Given the description of an element on the screen output the (x, y) to click on. 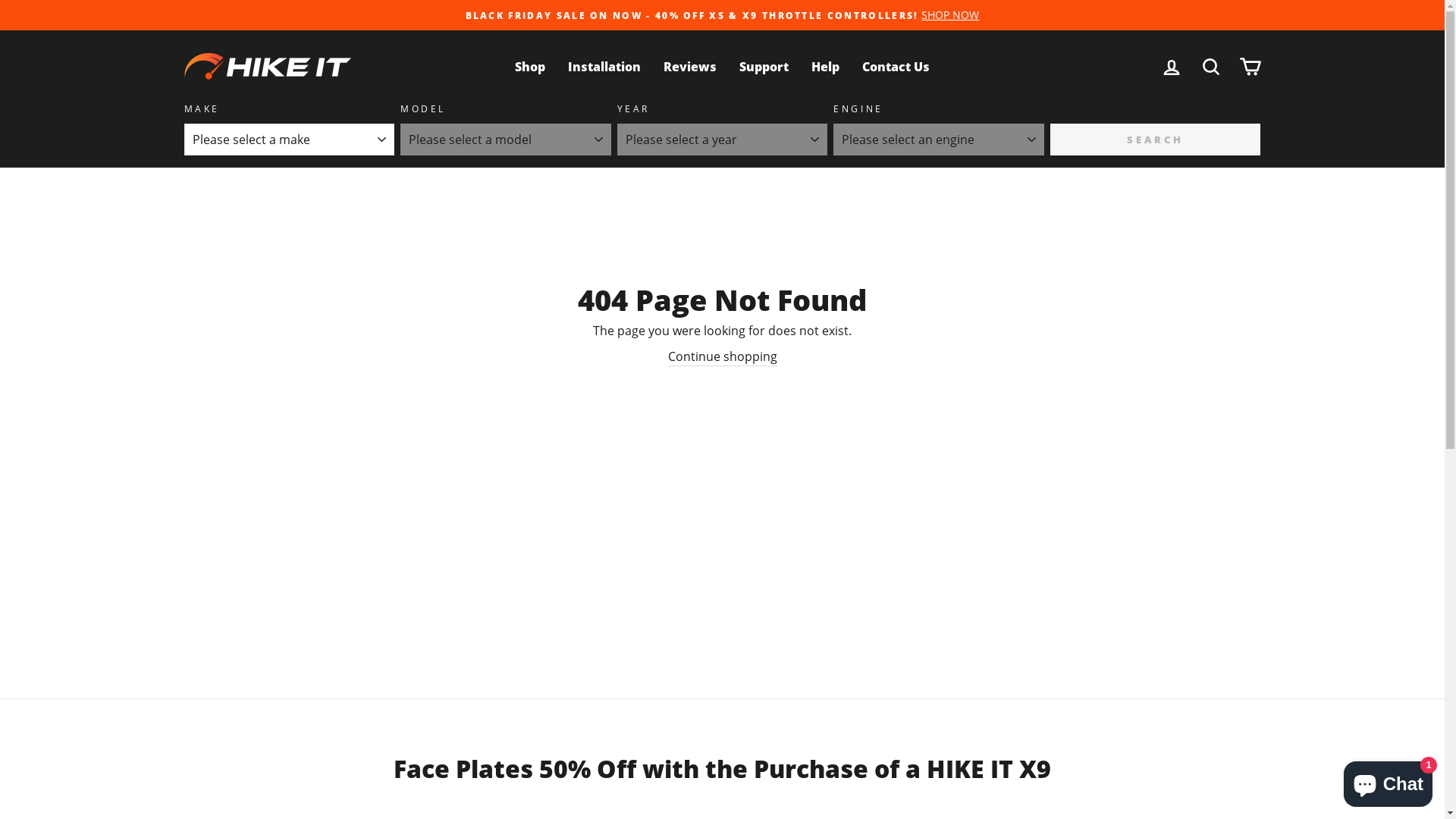
Contact Us Element type: text (895, 66)
Skip to content Element type: text (0, 0)
Support Element type: text (764, 66)
Installation Element type: text (604, 66)
Search Element type: text (1210, 66)
Continue shopping Element type: text (721, 356)
Reviews Element type: text (690, 66)
Help Element type: text (825, 66)
Cart Element type: text (1249, 66)
Log in Element type: text (1170, 66)
Shop Element type: text (529, 66)
SEARCH Element type: text (217, 146)
Shopify online store chat Element type: hover (1388, 780)
